Given the description of an element on the screen output the (x, y) to click on. 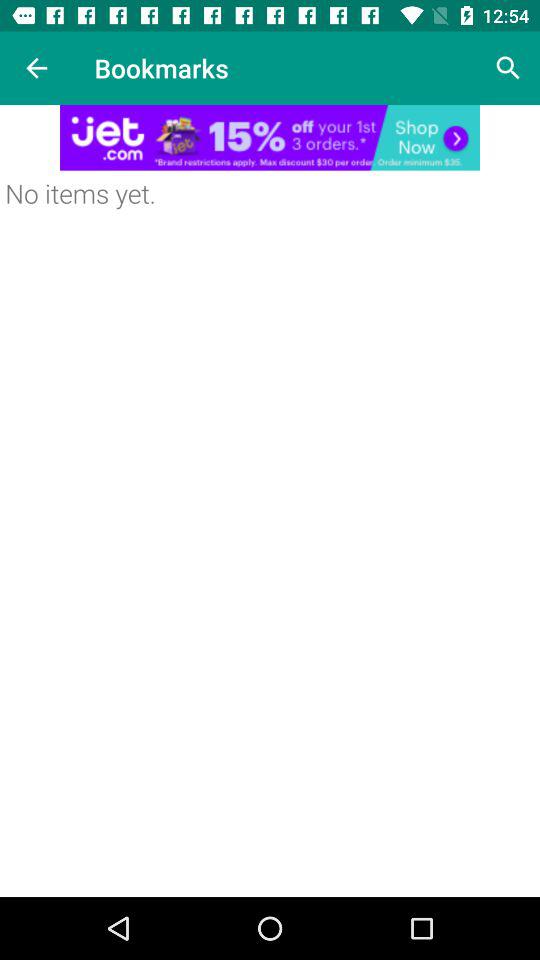
search (508, 67)
